Given the description of an element on the screen output the (x, y) to click on. 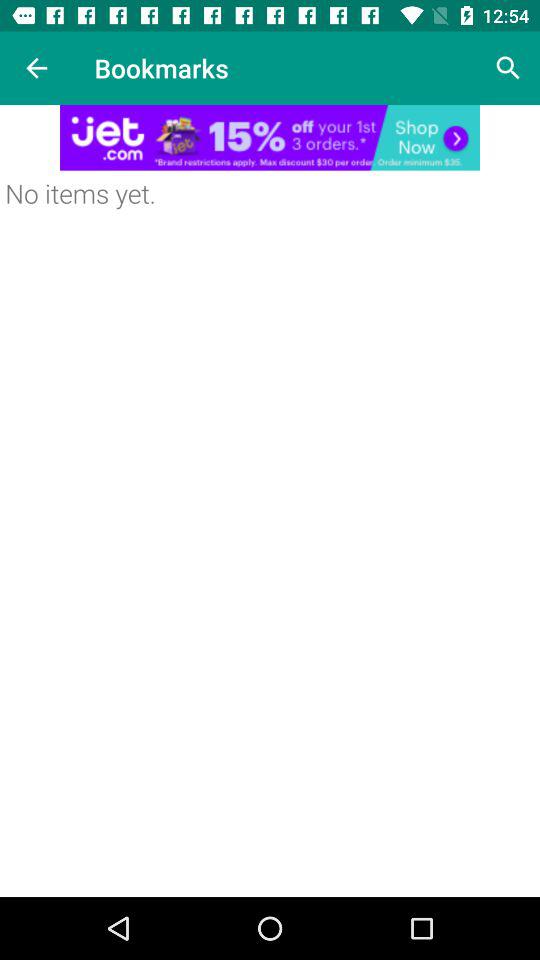
search (508, 67)
